Given the description of an element on the screen output the (x, y) to click on. 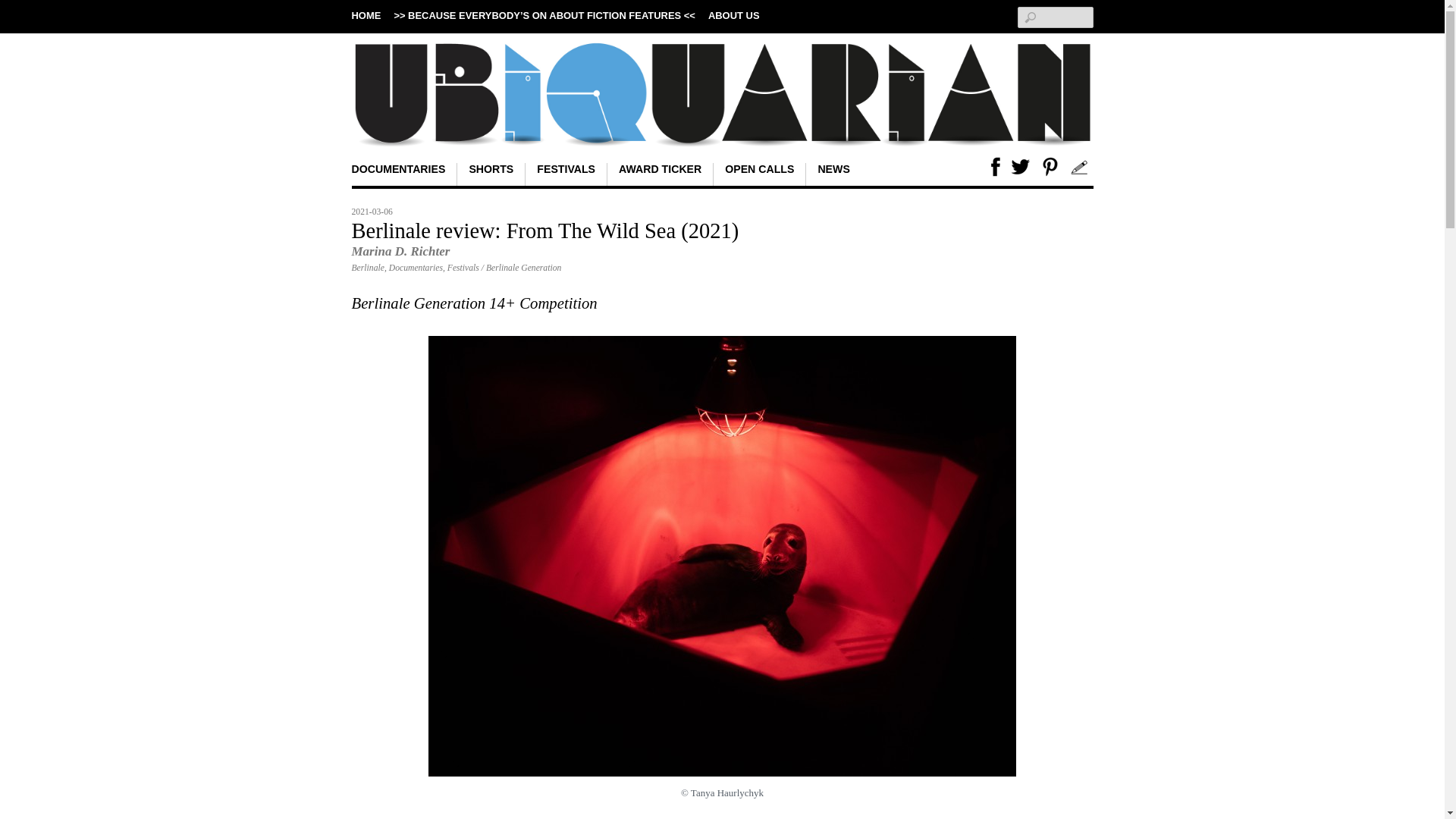
Contact Page (1079, 166)
FESTIVALS (566, 173)
Follow Us On Twitter (1020, 166)
Pinterest (1048, 166)
ubiquarian banner (722, 93)
Facebook (990, 166)
SHORTS (491, 173)
ABOUT US (733, 15)
ubiquarian (722, 121)
HOME (366, 15)
DOCUMENTARIES (398, 173)
